Given the description of an element on the screen output the (x, y) to click on. 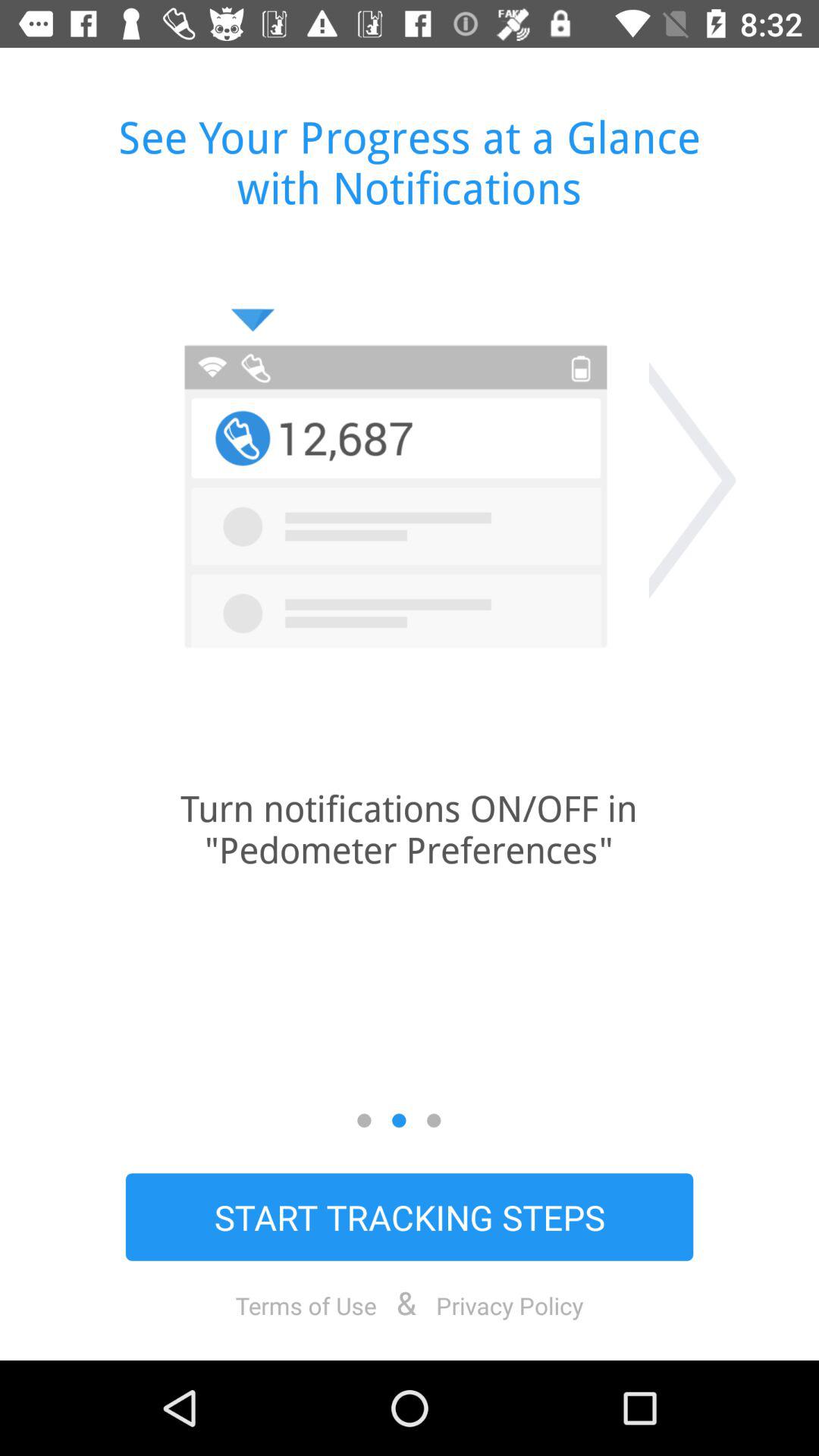
turn off the item above the & icon (409, 1217)
